Given the description of an element on the screen output the (x, y) to click on. 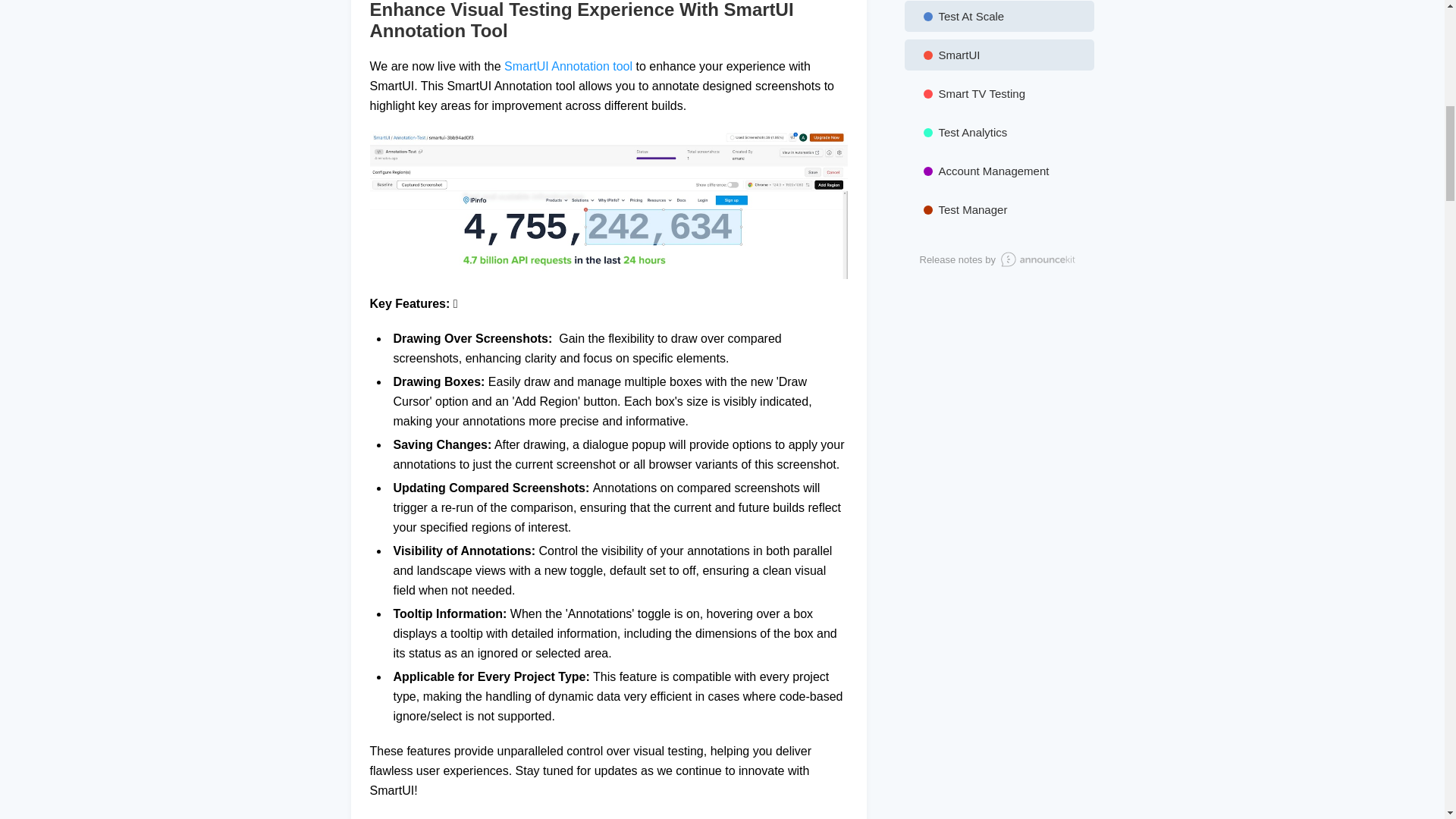
SmartUI Annotation tool (567, 65)
